Given the description of an element on the screen output the (x, y) to click on. 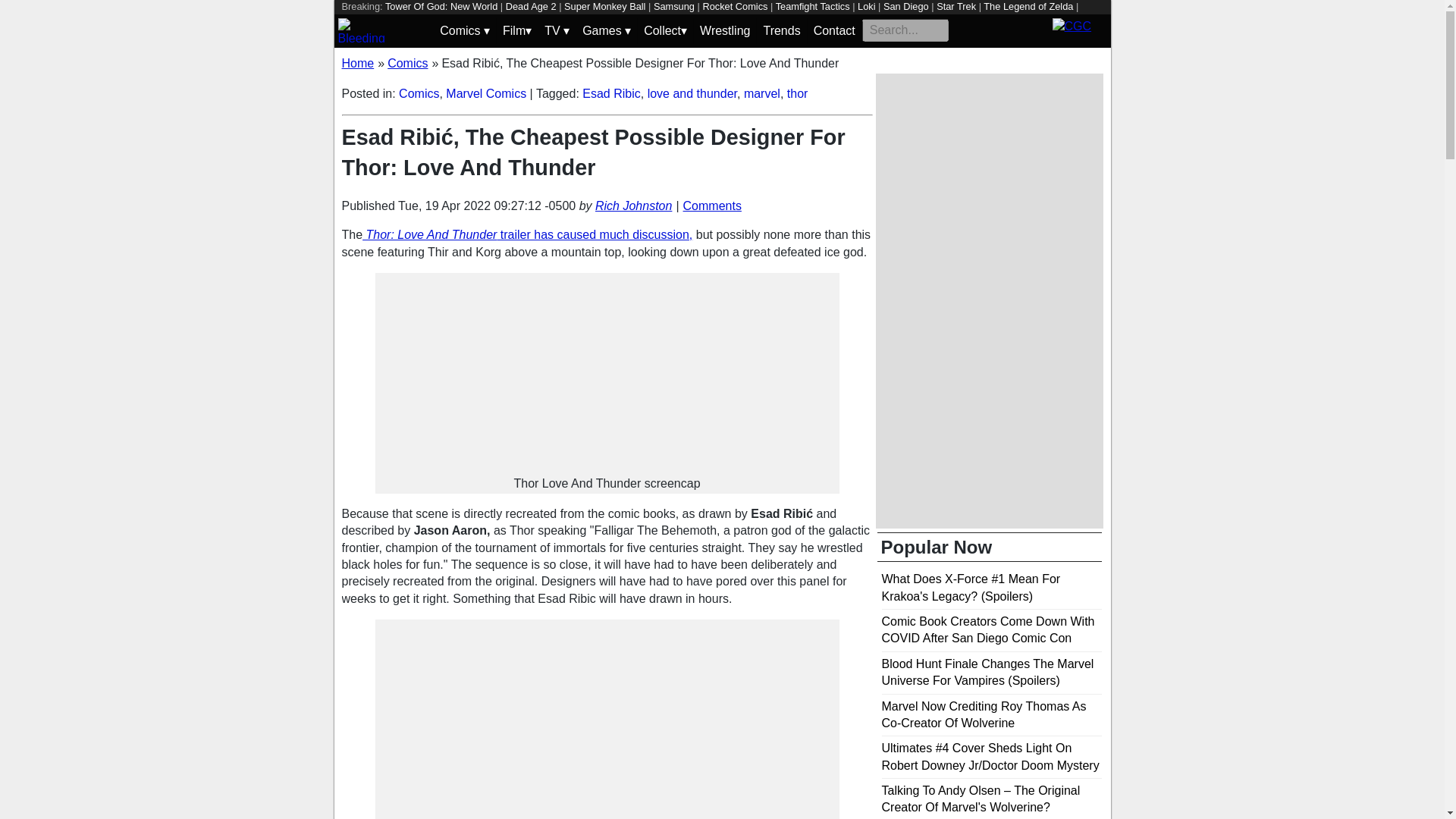
Toggle Dropdown (606, 30)
Toggle Dropdown (665, 30)
Teamfight Tactics (813, 6)
Tue, 19 Apr 2022 09:27:12 -0500 (486, 205)
Toggle Dropdown (464, 30)
The Legend of Zelda (1028, 6)
AEW Dynamite (431, 19)
Super Monkey Ball (604, 6)
Neil Armstrong (505, 19)
Rocket Comics (734, 6)
Tower Of God: New World (441, 6)
Loki (866, 6)
Toggle Dropdown (516, 30)
squid game (365, 19)
Star Trek (955, 6)
